Given the description of an element on the screen output the (x, y) to click on. 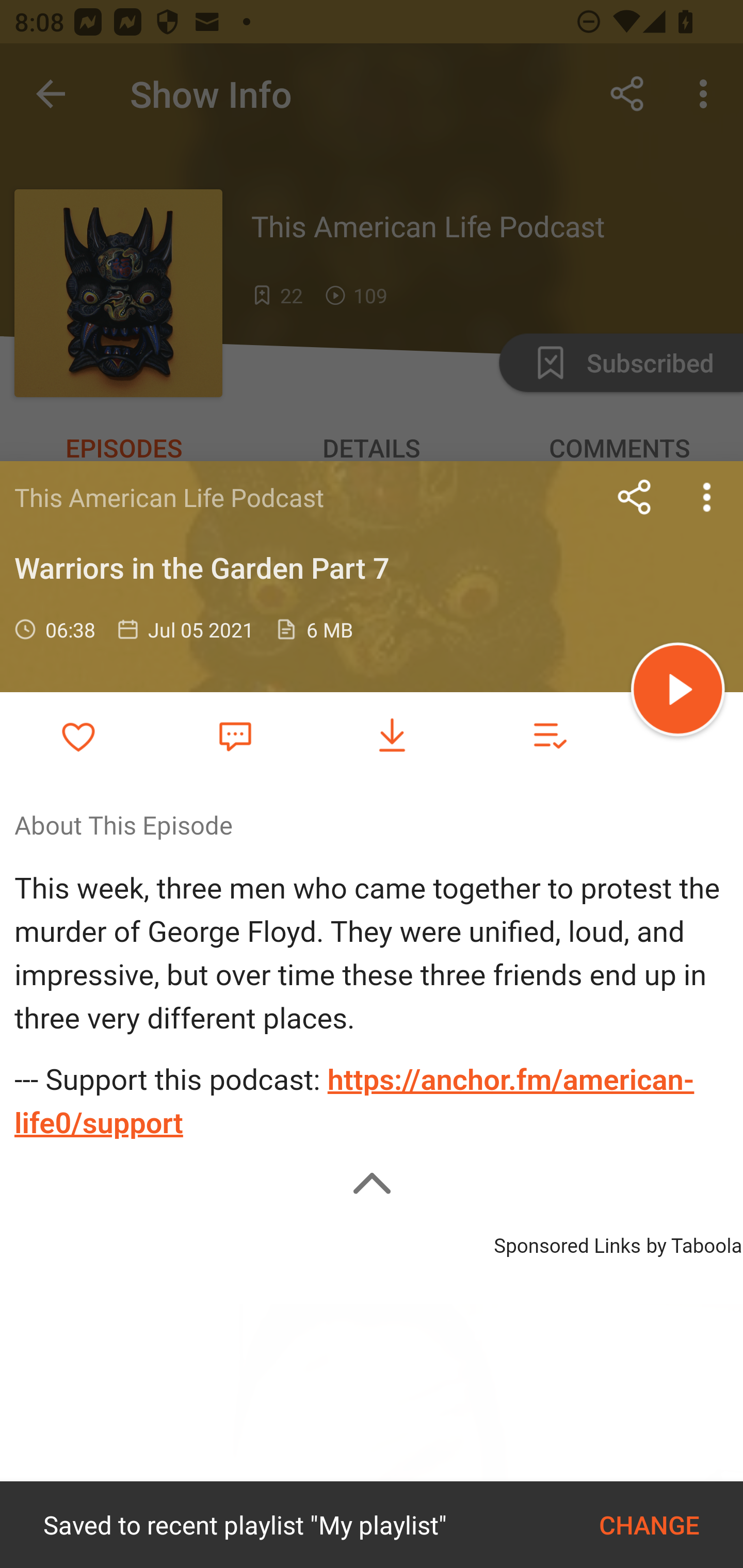
Share (634, 496)
more options (706, 496)
Play (677, 692)
Favorite (234, 735)
Add to Favorites (78, 735)
Download (391, 735)
Add to playlist (548, 735)
https://anchor.fm/american-life0/support (354, 1101)
Sponsored Links (566, 1243)
by Taboola (693, 1243)
Saved to recent playlist "My playlist" CHANGE (371, 1524)
CHANGE (648, 1524)
